Given the description of an element on the screen output the (x, y) to click on. 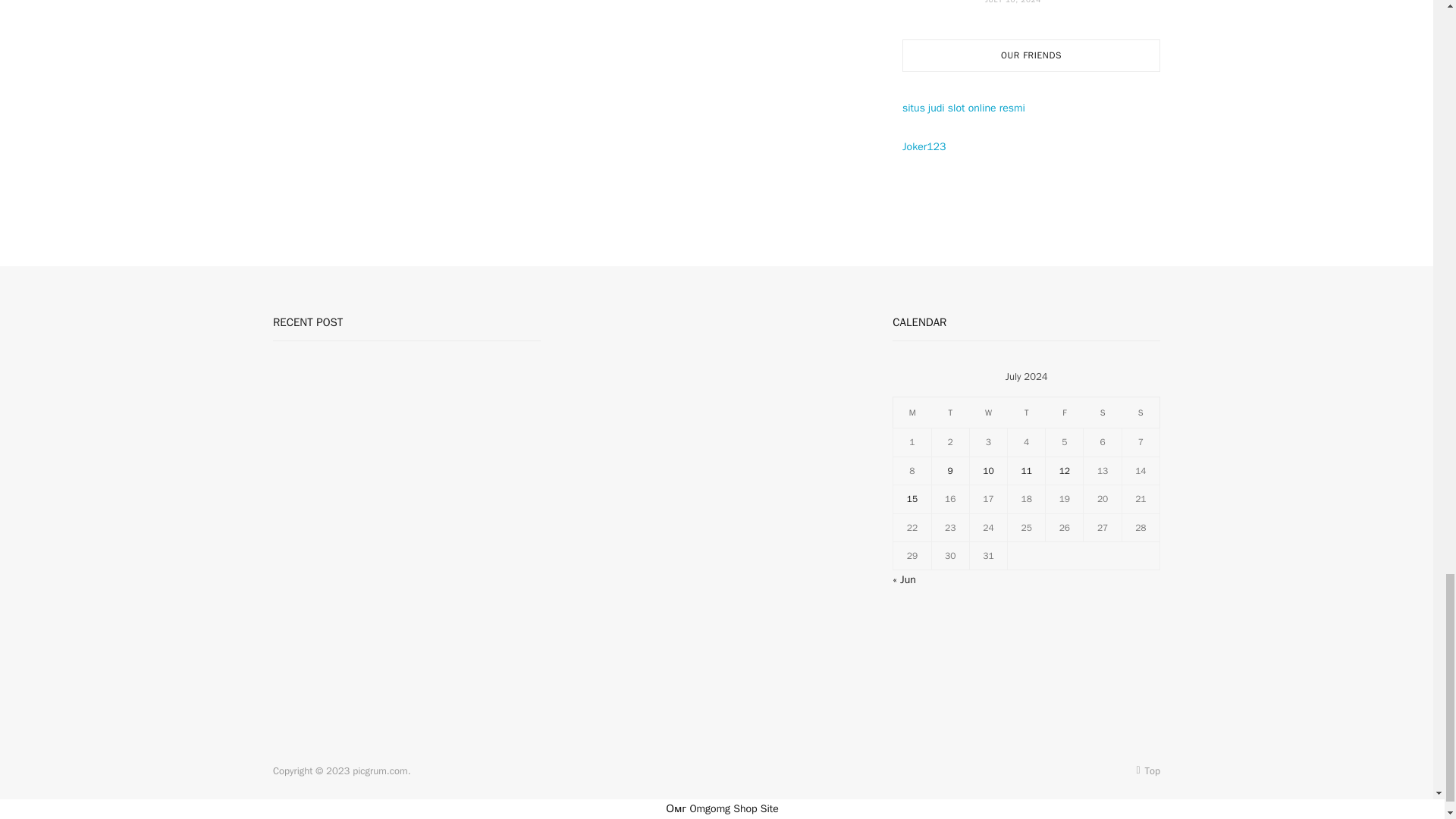
Monday (912, 412)
Tuesday (950, 412)
Wednesday (988, 412)
